Given the description of an element on the screen output the (x, y) to click on. 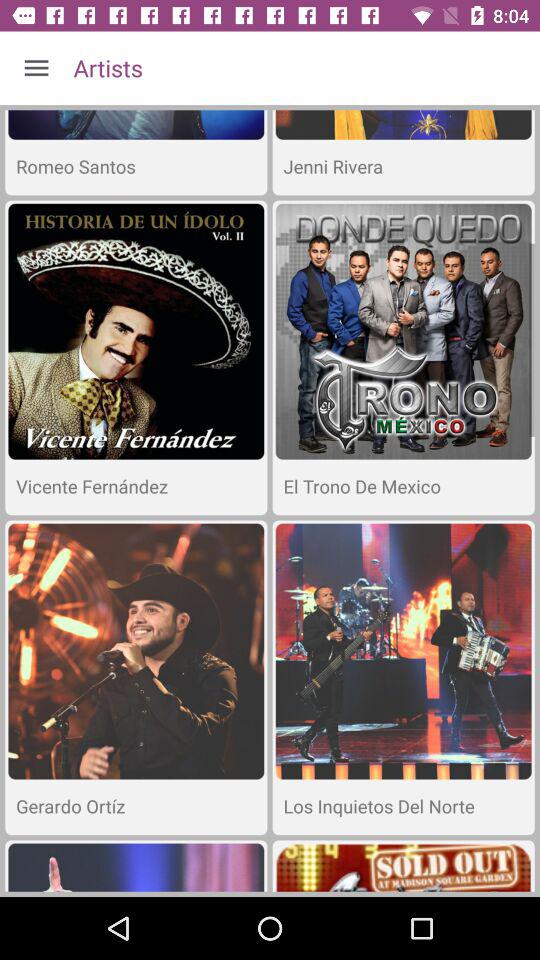
select the icon next to the artists item (36, 68)
